Given the description of an element on the screen output the (x, y) to click on. 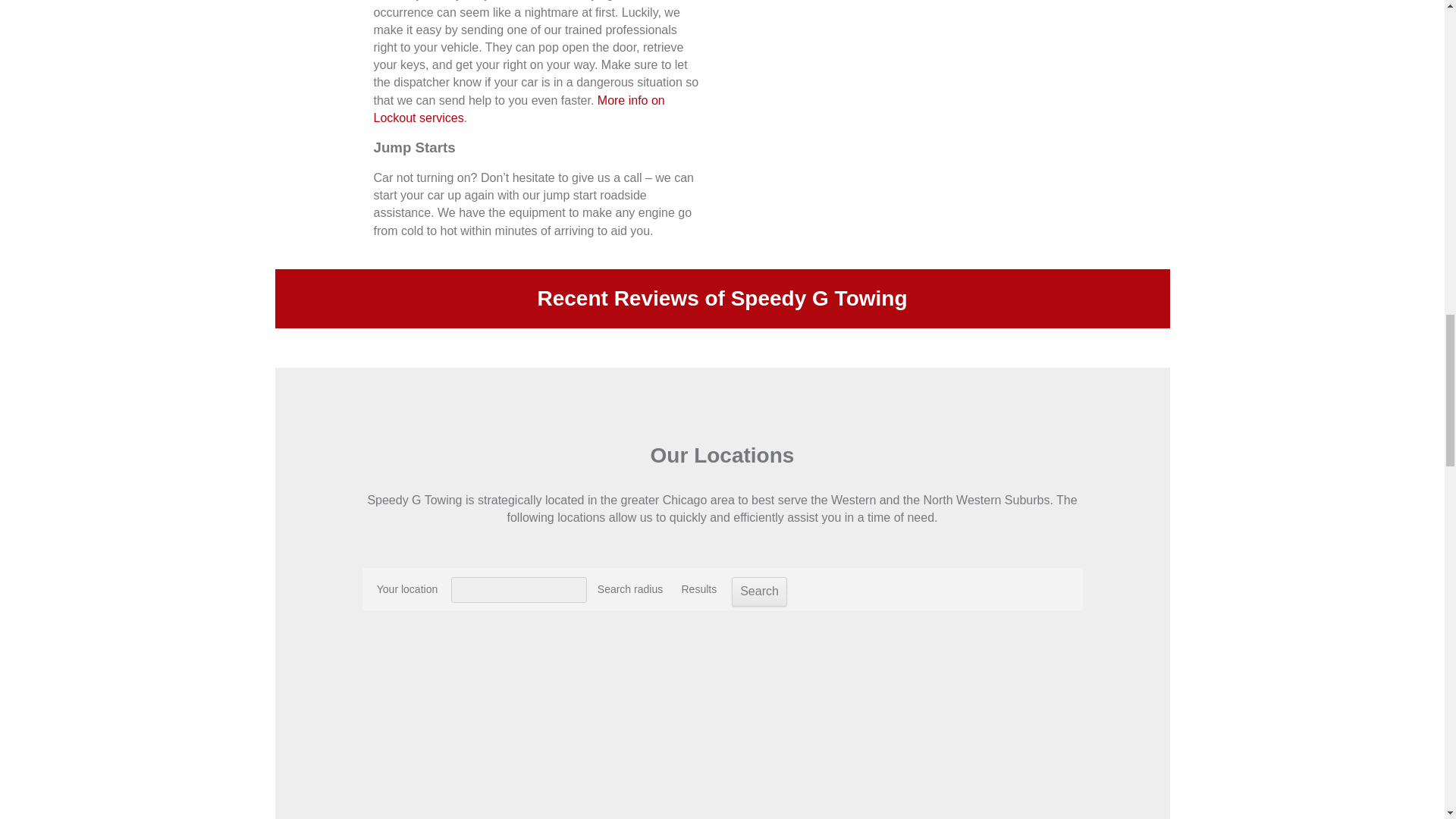
Search (759, 591)
